Given the description of an element on the screen output the (x, y) to click on. 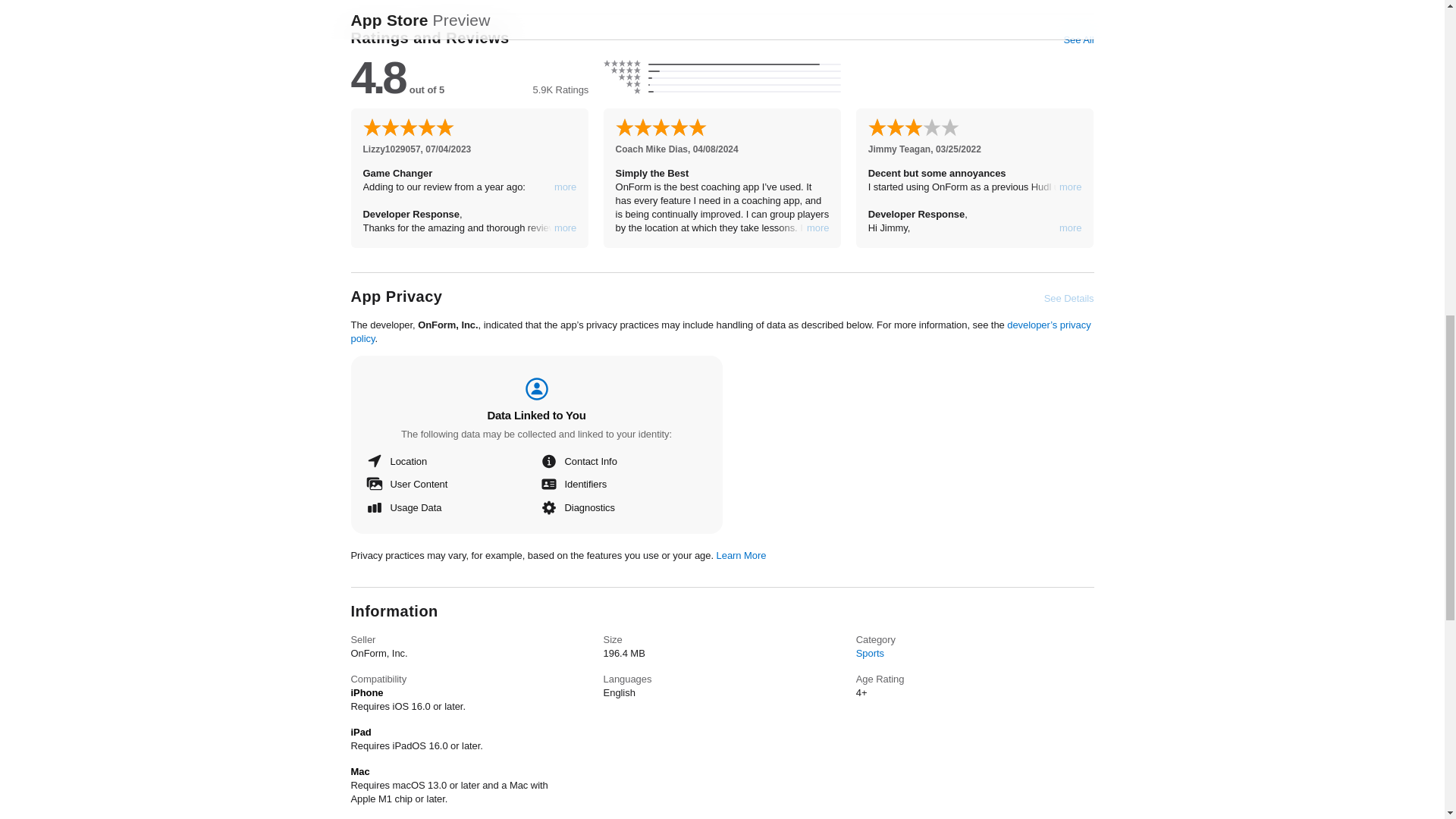
more (565, 187)
more (817, 228)
See Details (1068, 298)
See All (1077, 39)
Sports (869, 653)
more (1070, 187)
more (1070, 228)
more (565, 228)
Learn More (741, 555)
